Given the description of an element on the screen output the (x, y) to click on. 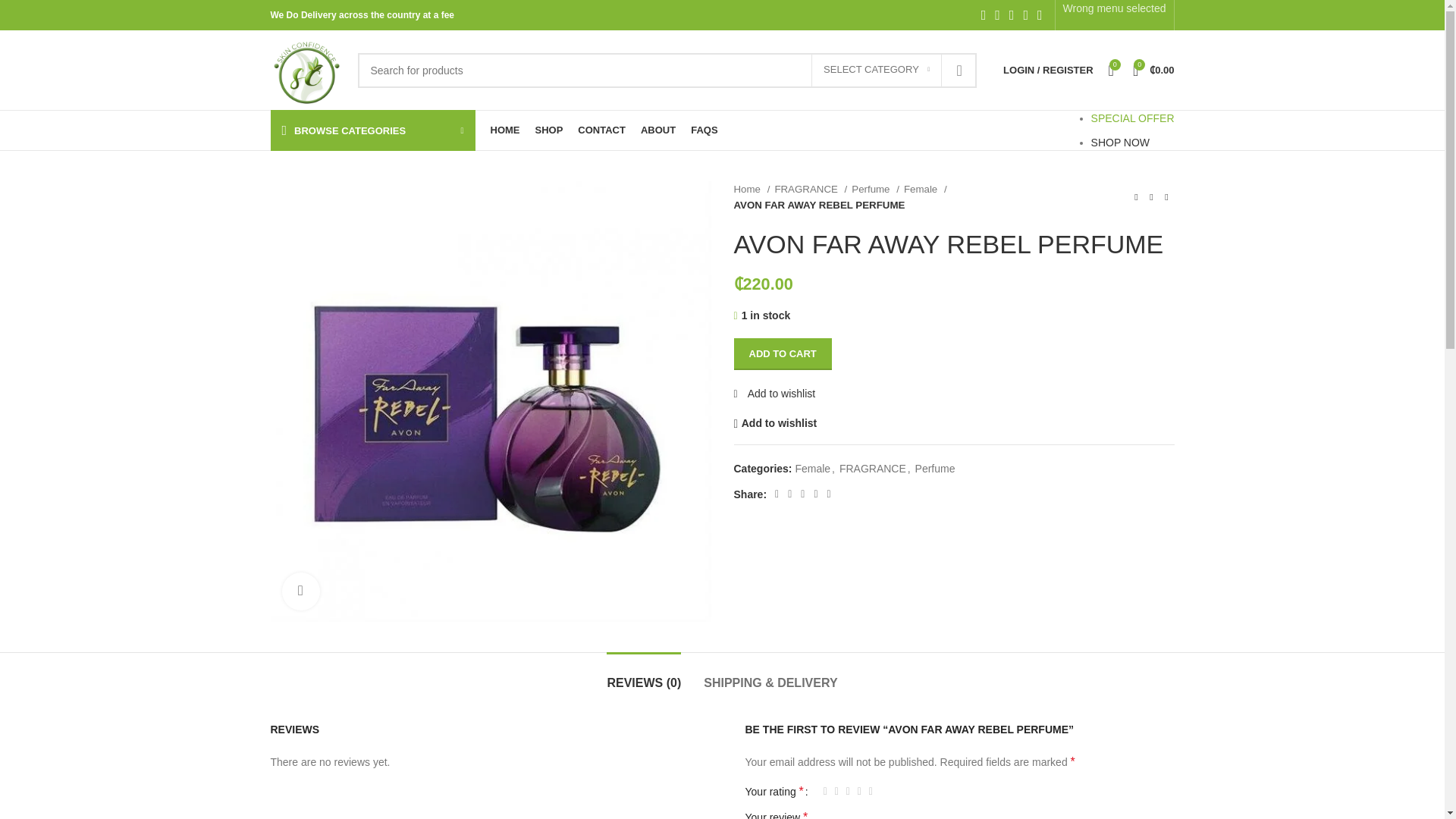
Search for products (667, 70)
SELECT CATEGORY (876, 70)
Shopping cart (1153, 69)
SELECT CATEGORY (876, 70)
My account (1047, 69)
